Given the description of an element on the screen output the (x, y) to click on. 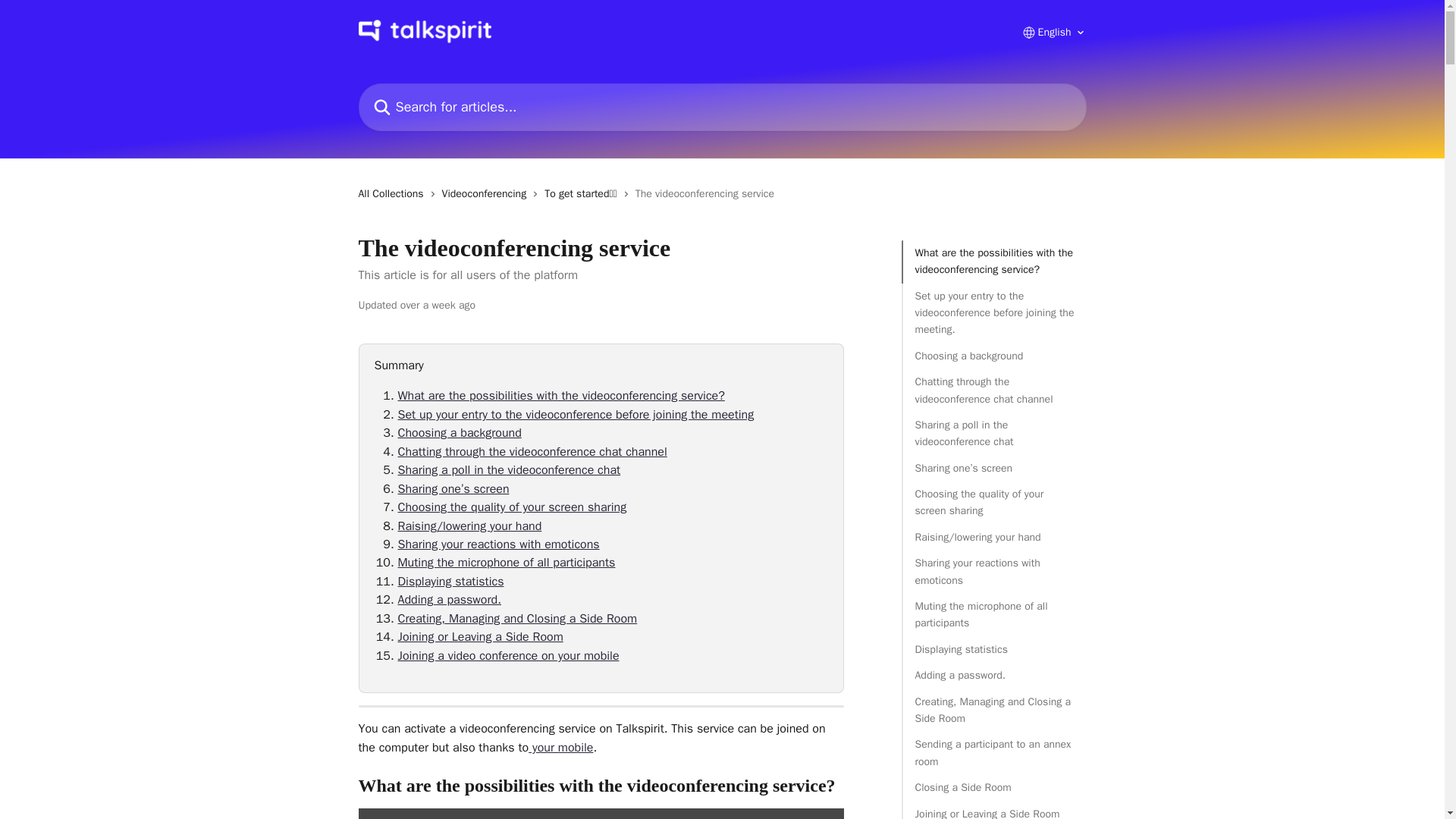
Joining or Leaving a Side Room (994, 812)
Creating, Managing and Closing a Side Room (994, 710)
Closing a Side Room (994, 787)
Videoconferencing (487, 193)
Muting the microphone of all participants (994, 615)
Sharing your reactions with emoticons (994, 571)
Sending a participant to an annex room (994, 753)
Adding a password. (994, 675)
All Collections (393, 193)
Choosing a background (994, 356)
Chatting through the videoconference chat channel (994, 390)
Choosing the quality of your screen sharing (994, 503)
Sharing a poll in the videoconference chat (994, 433)
Displaying statistics (994, 649)
